Given the description of an element on the screen output the (x, y) to click on. 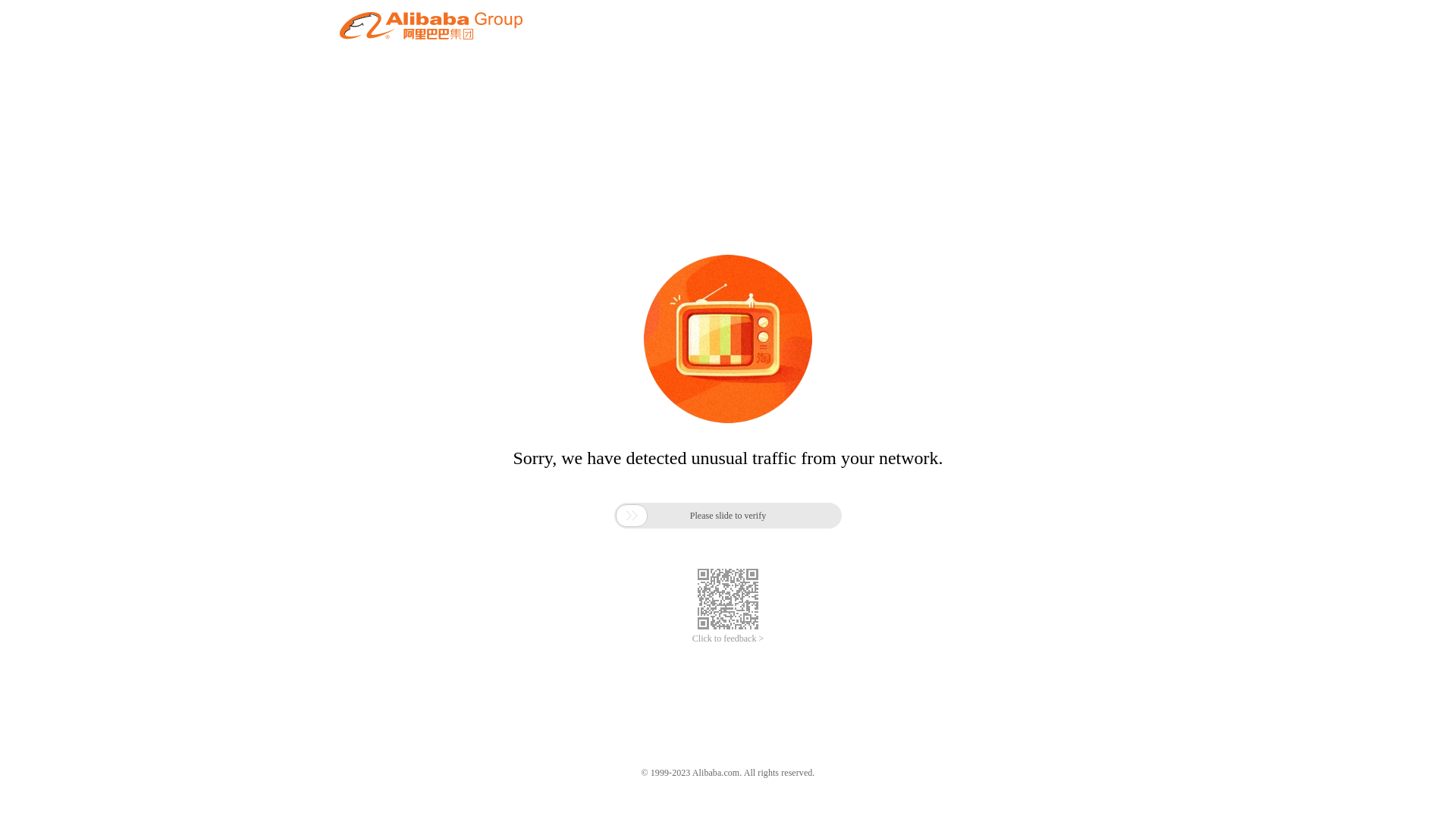
Click to feedback > Element type: text (727, 638)
